Given the description of an element on the screen output the (x, y) to click on. 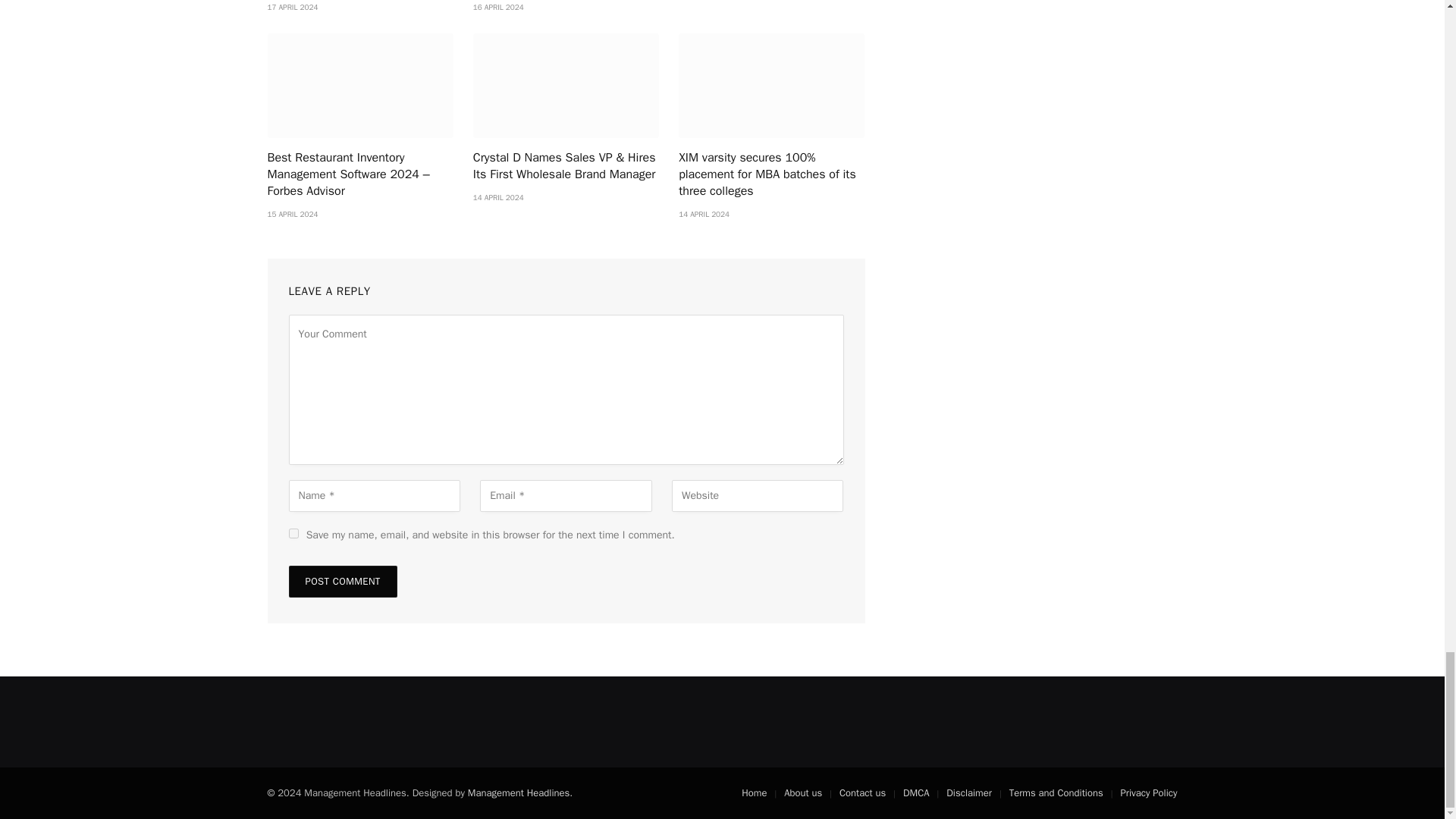
yes (293, 533)
Post Comment (342, 581)
